Given the description of an element on the screen output the (x, y) to click on. 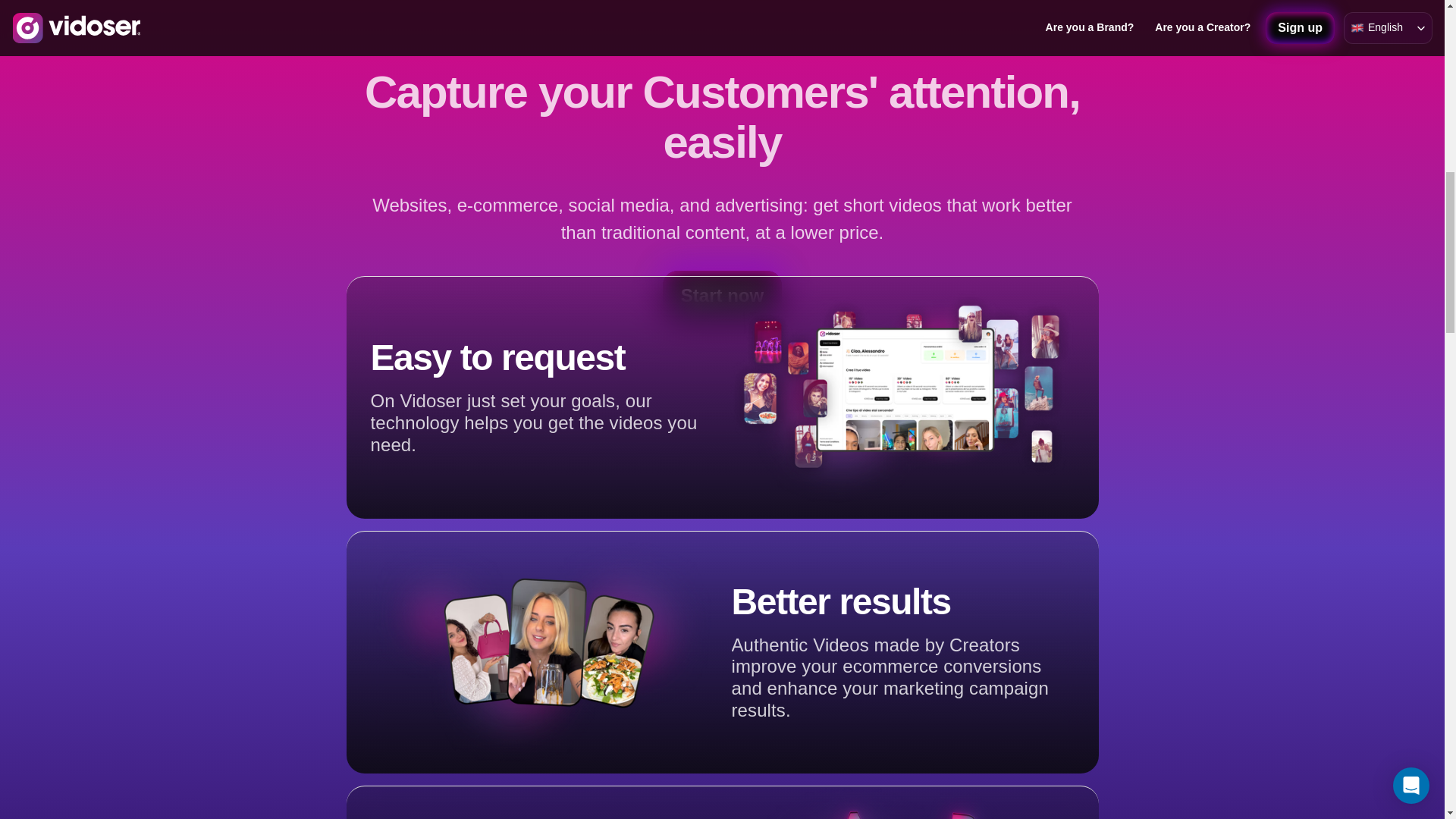
Start now (721, 296)
